Given the description of an element on the screen output the (x, y) to click on. 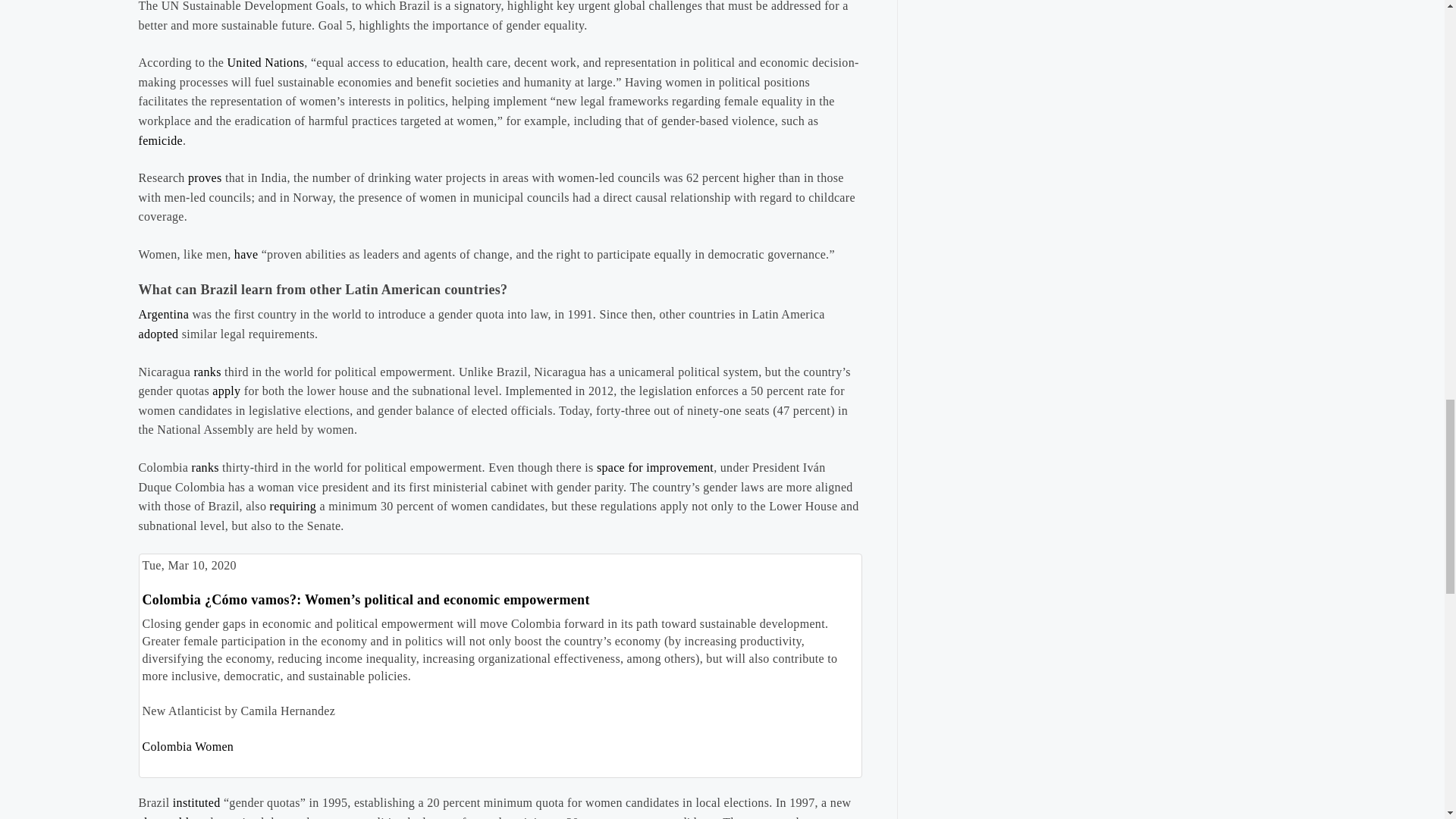
requiring (293, 505)
Argentina (163, 314)
United Nations (265, 62)
space for improvement (654, 467)
adopted (157, 333)
ranks (207, 371)
electoral law (170, 817)
proves (204, 177)
Women (213, 746)
have (245, 254)
ranks (204, 467)
apply (226, 390)
Colombia (167, 746)
femicide (160, 140)
instituted (197, 802)
